Given the description of an element on the screen output the (x, y) to click on. 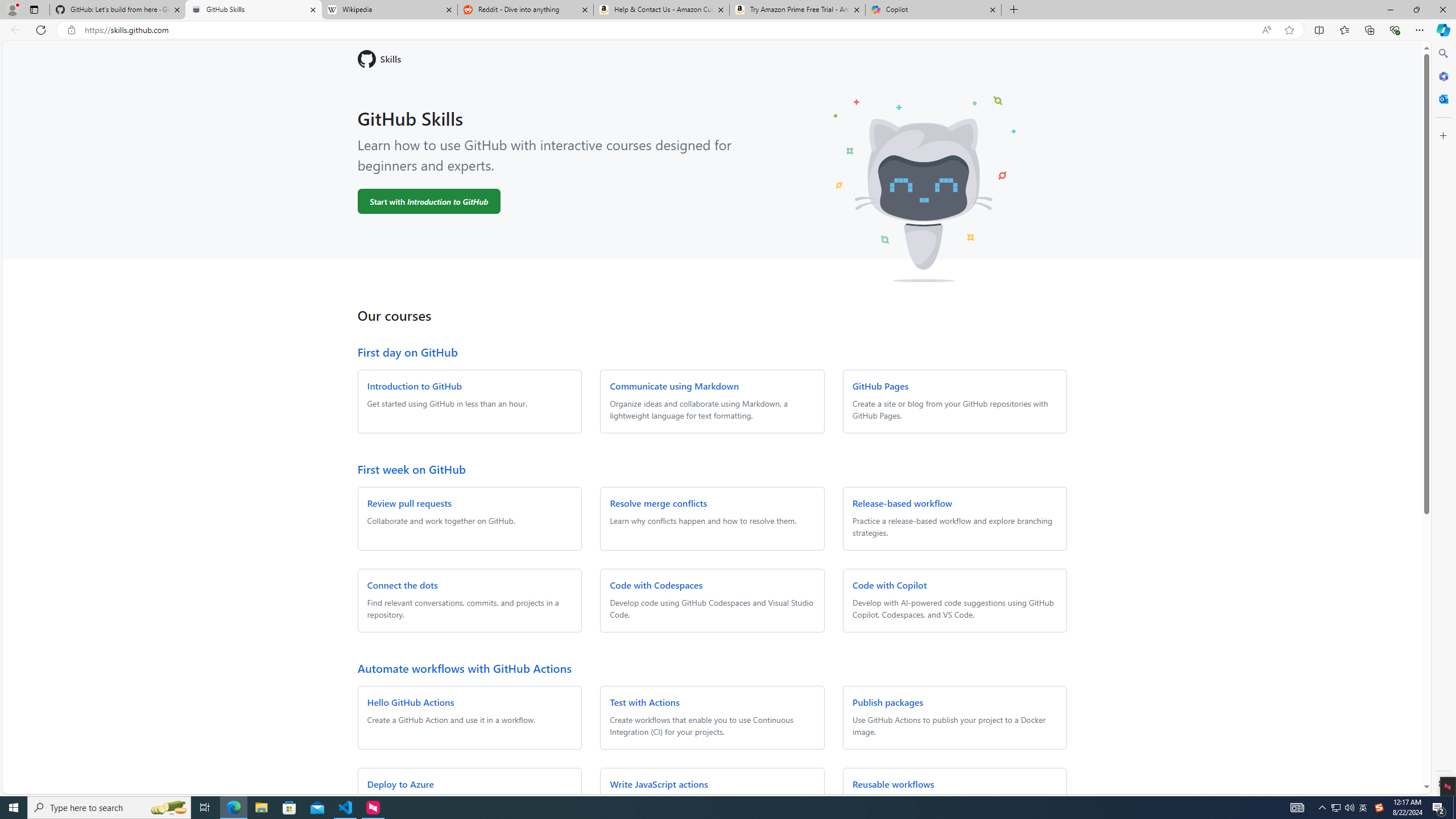
Reusable workflows (892, 784)
Code with Copilot (889, 585)
Code with Codespaces (656, 585)
